Given the description of an element on the screen output the (x, y) to click on. 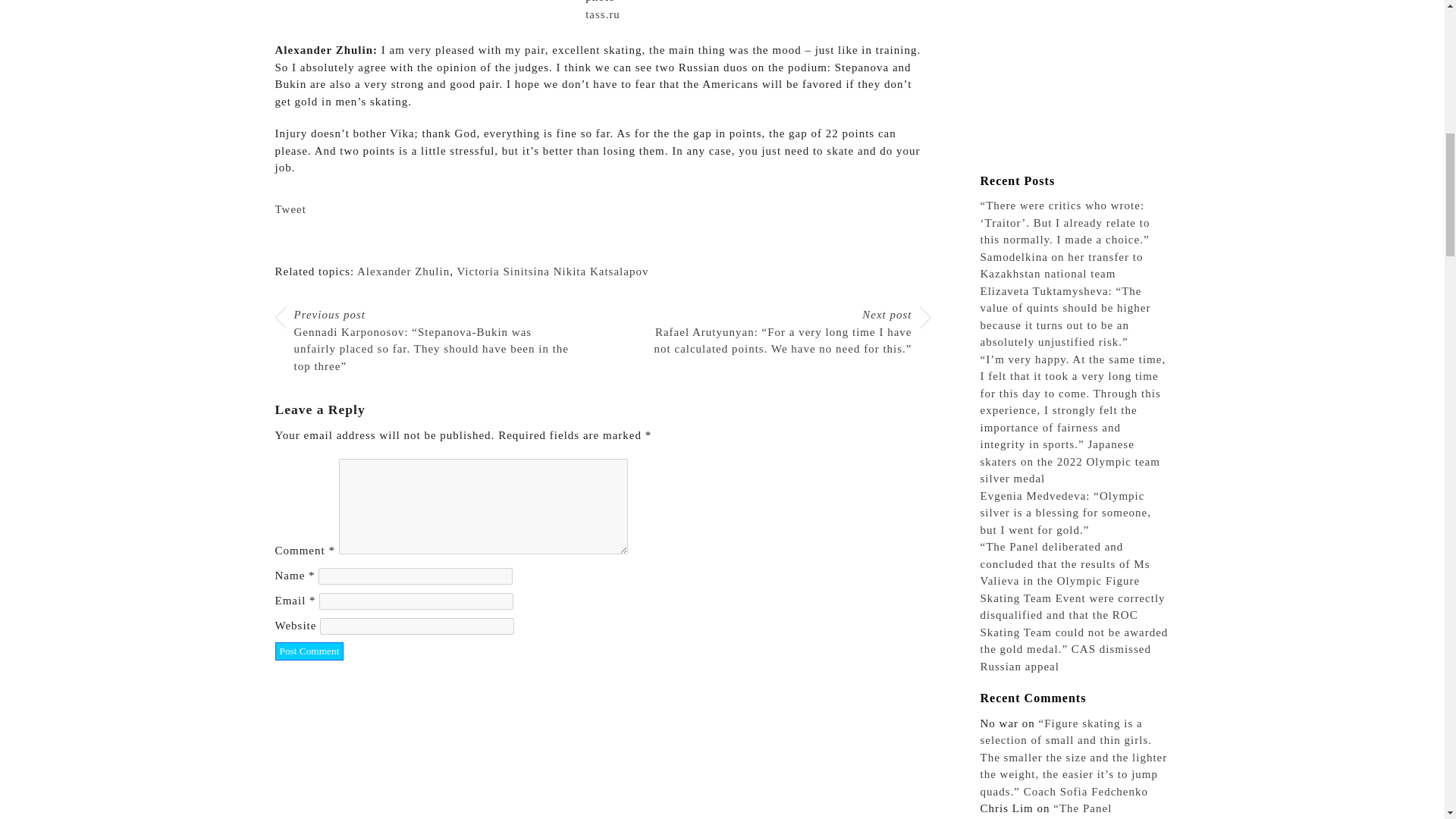
tass.ru (602, 13)
Alexander Zhulin (402, 271)
Post Comment (309, 650)
Post Comment (309, 650)
Advertisement (1074, 82)
Victoria Sinitsina Nikita Katsalapov (552, 271)
Tweet (290, 209)
